Given the description of an element on the screen output the (x, y) to click on. 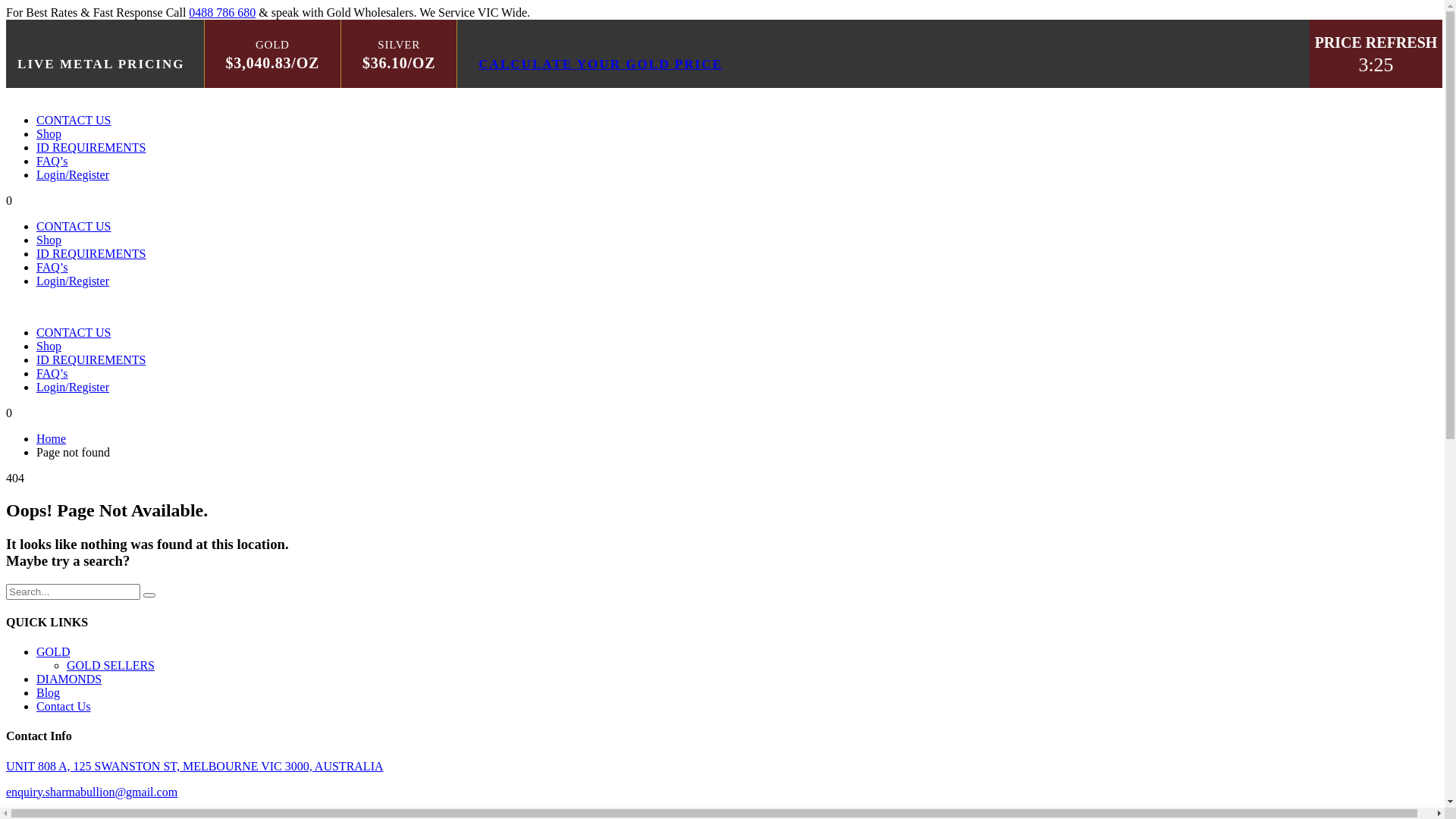
Contact Us Element type: text (63, 705)
Shop Element type: text (48, 239)
Blog Element type: text (47, 692)
GOLD Element type: text (52, 651)
Login/Register Element type: text (72, 174)
ID REQUIREMENTS Element type: text (90, 147)
Login/Register Element type: text (72, 386)
enquiry.sharmabullion@gmail.com Element type: text (91, 791)
GOLD SELLERS Element type: text (110, 664)
Login/Register Element type: text (72, 280)
CONTACT US Element type: text (73, 225)
CALCULATE YOUR GOLD PRICE Element type: text (600, 63)
0488 786 680 Element type: text (221, 12)
Shop Element type: text (48, 133)
UNIT 808 A, 125 SWANSTON ST, MELBOURNE VIC 3000, AUSTRALIA Element type: text (194, 765)
Home Element type: text (50, 438)
CONTACT US Element type: text (73, 119)
ID REQUIREMENTS Element type: text (90, 359)
DIAMONDS Element type: text (68, 678)
CONTACT US Element type: text (73, 332)
Shop Element type: text (48, 345)
ID REQUIREMENTS Element type: text (90, 253)
